Given the description of an element on the screen output the (x, y) to click on. 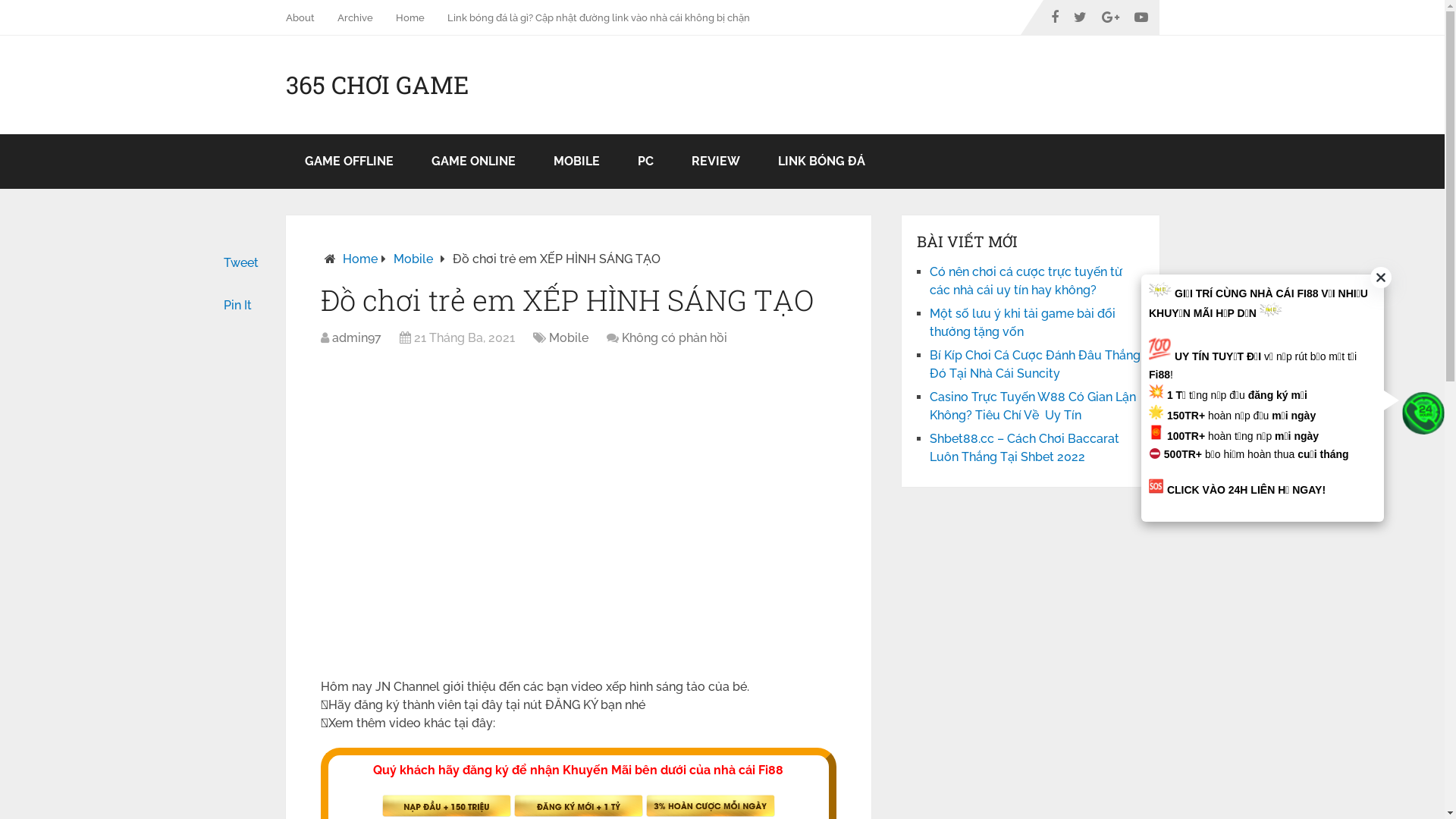
PC Element type: text (645, 161)
REVIEW Element type: text (714, 161)
About Element type: text (305, 17)
Pin It Element type: text (236, 305)
Mobile Element type: text (412, 258)
admin97 Element type: text (356, 337)
GAME OFFLINE Element type: text (348, 161)
Home Element type: text (409, 17)
Mobile Element type: text (568, 337)
Tweet Element type: text (239, 262)
Home Element type: text (359, 258)
GAME ONLINE Element type: text (473, 161)
MOBILE Element type: text (575, 161)
Archive Element type: text (355, 17)
